Given the description of an element on the screen output the (x, y) to click on. 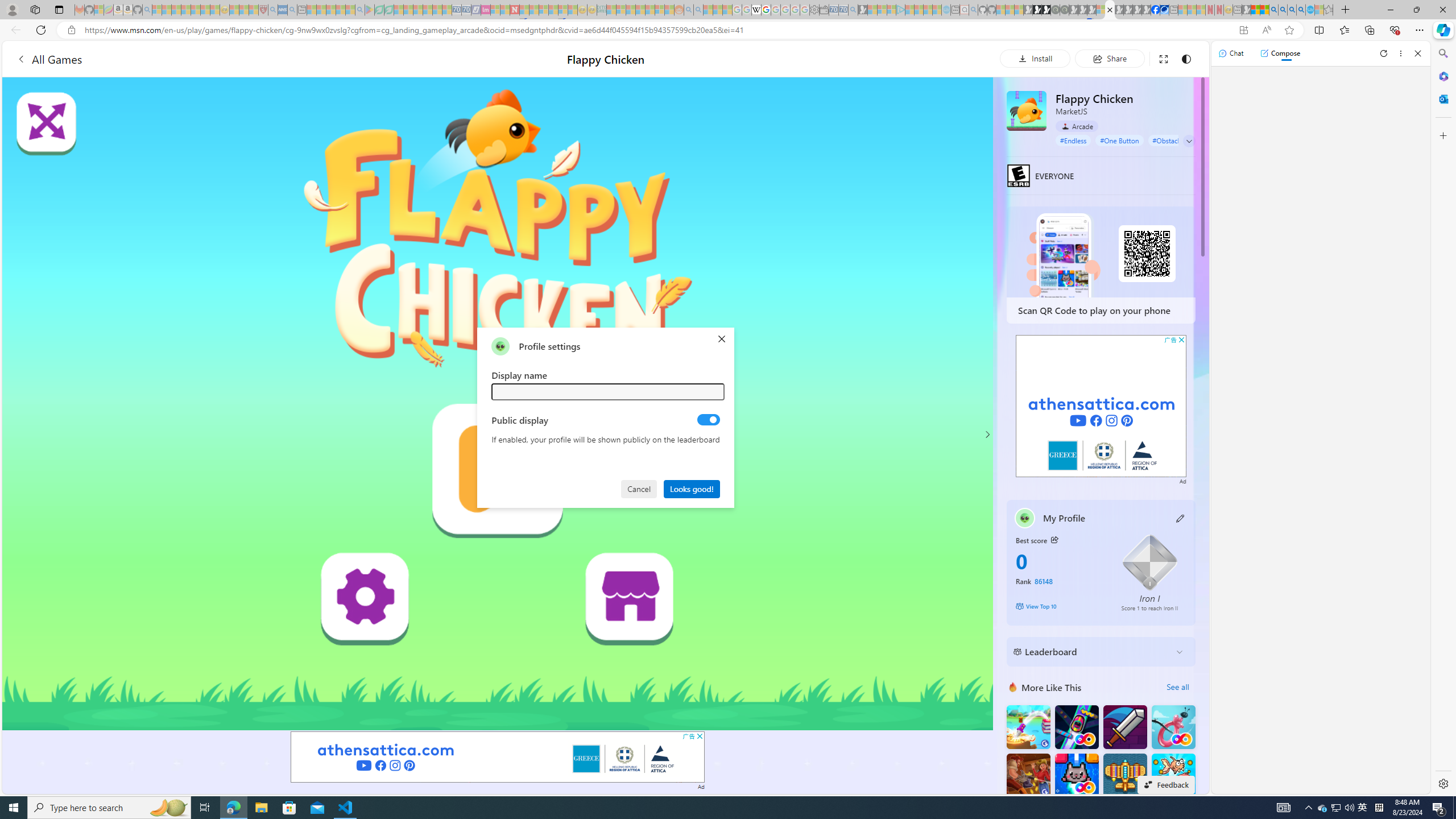
Dungeon Master Knight (1124, 726)
Install (1034, 58)
Full screen (1163, 58)
